Given the description of an element on the screen output the (x, y) to click on. 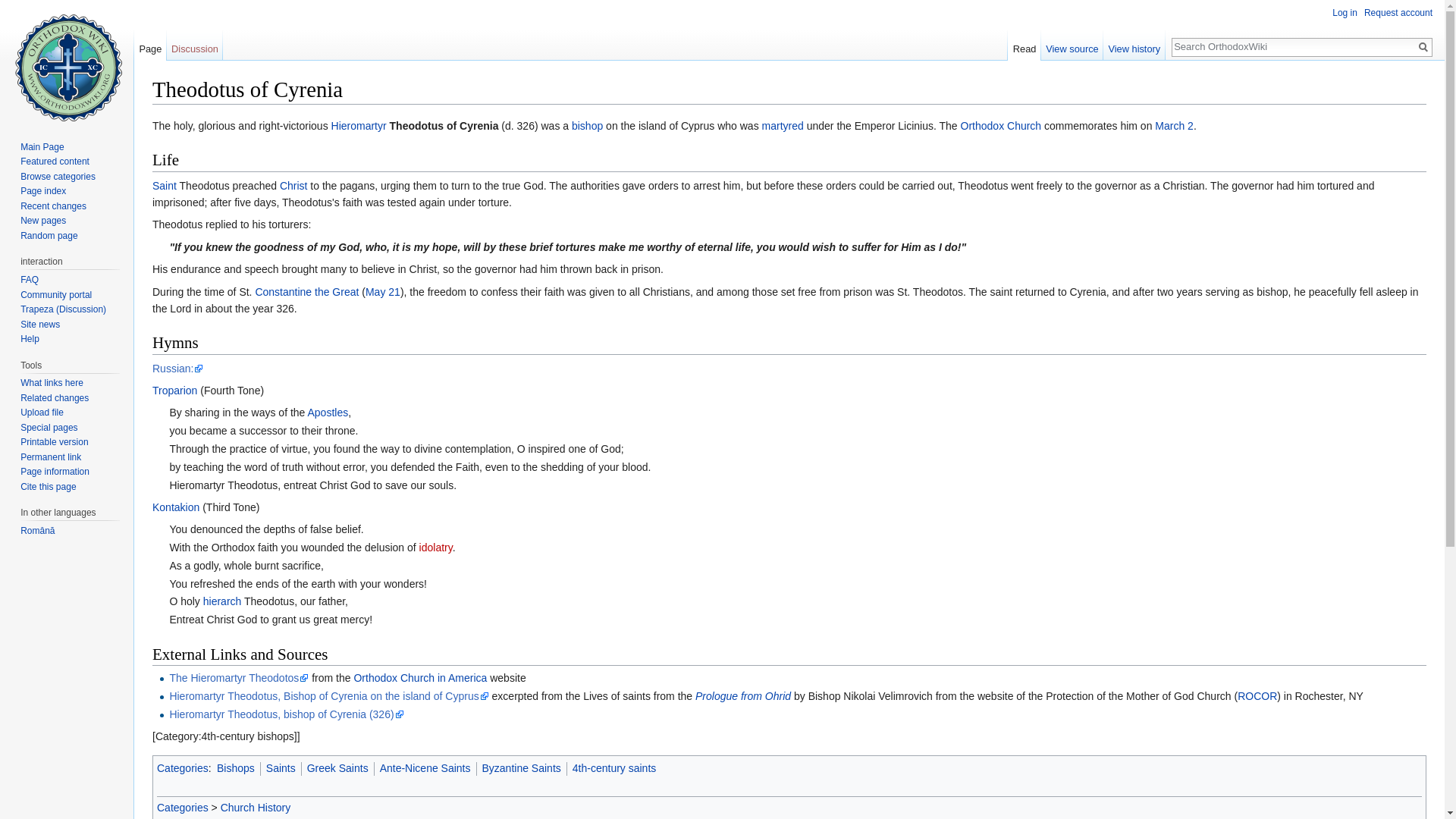
idolatry (435, 547)
Bishop (587, 125)
Go (1423, 46)
Bishops (235, 767)
Orthodox Church (1001, 125)
Troparion (174, 390)
Church History (256, 807)
Martyr (782, 125)
Troparion (174, 390)
March 2 (1173, 125)
